Given the description of an element on the screen output the (x, y) to click on. 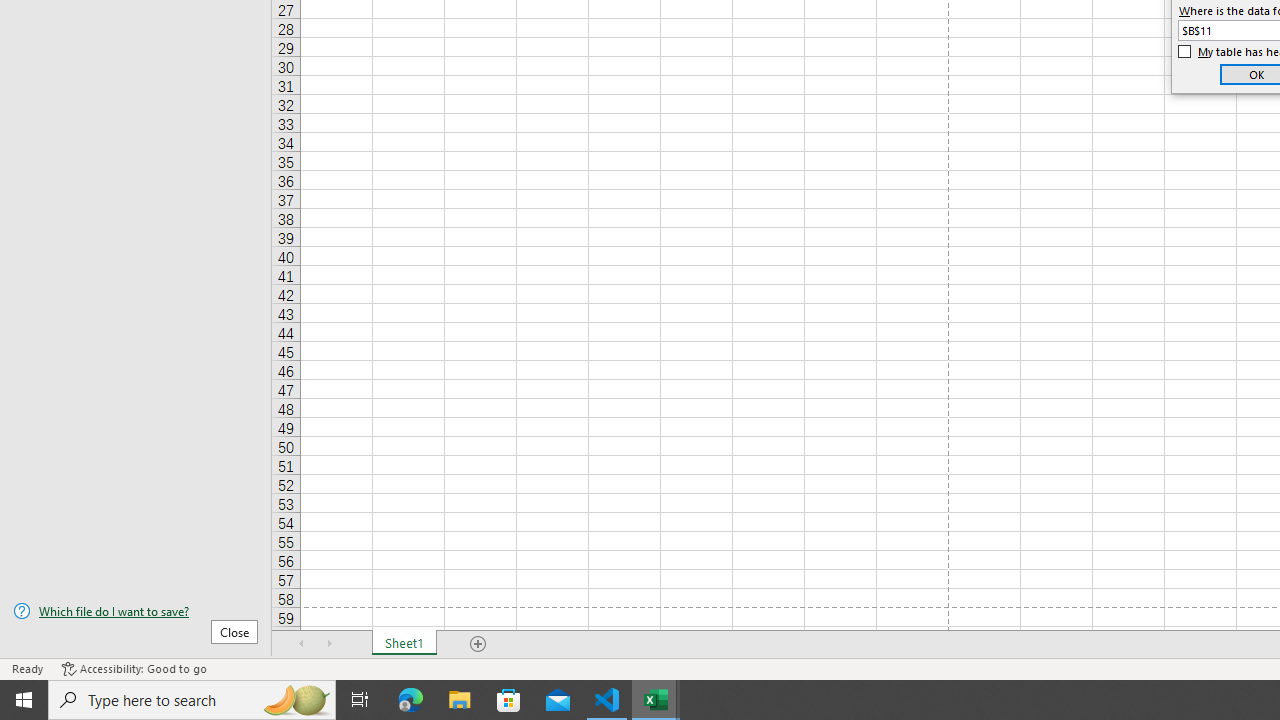
Scroll Left (302, 644)
Close (234, 631)
Which file do I want to save? (136, 611)
Sheet1 (404, 644)
Add Sheet (478, 644)
Accessibility Checker Accessibility: Good to go (134, 668)
Scroll Right (330, 644)
